Given the description of an element on the screen output the (x, y) to click on. 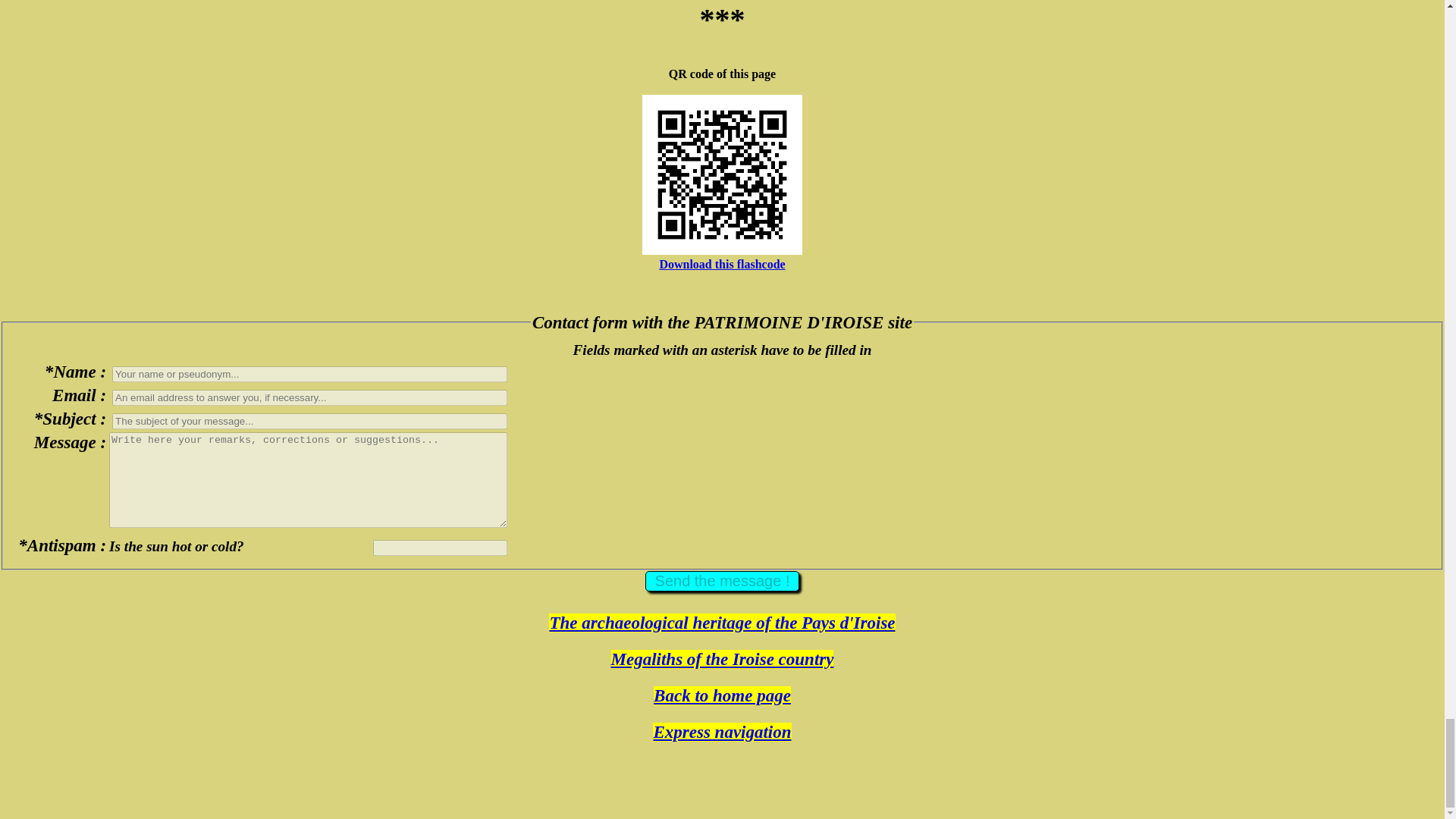
Download this flashcode (721, 263)
Express navigation (721, 732)
 Send the message !  (722, 580)
The archaeological heritage of the Pays d'Iroise (721, 622)
 Send the message !  (722, 580)
Back to home page (721, 695)
Megaliths of the Iroise country (722, 659)
